Given the description of an element on the screen output the (x, y) to click on. 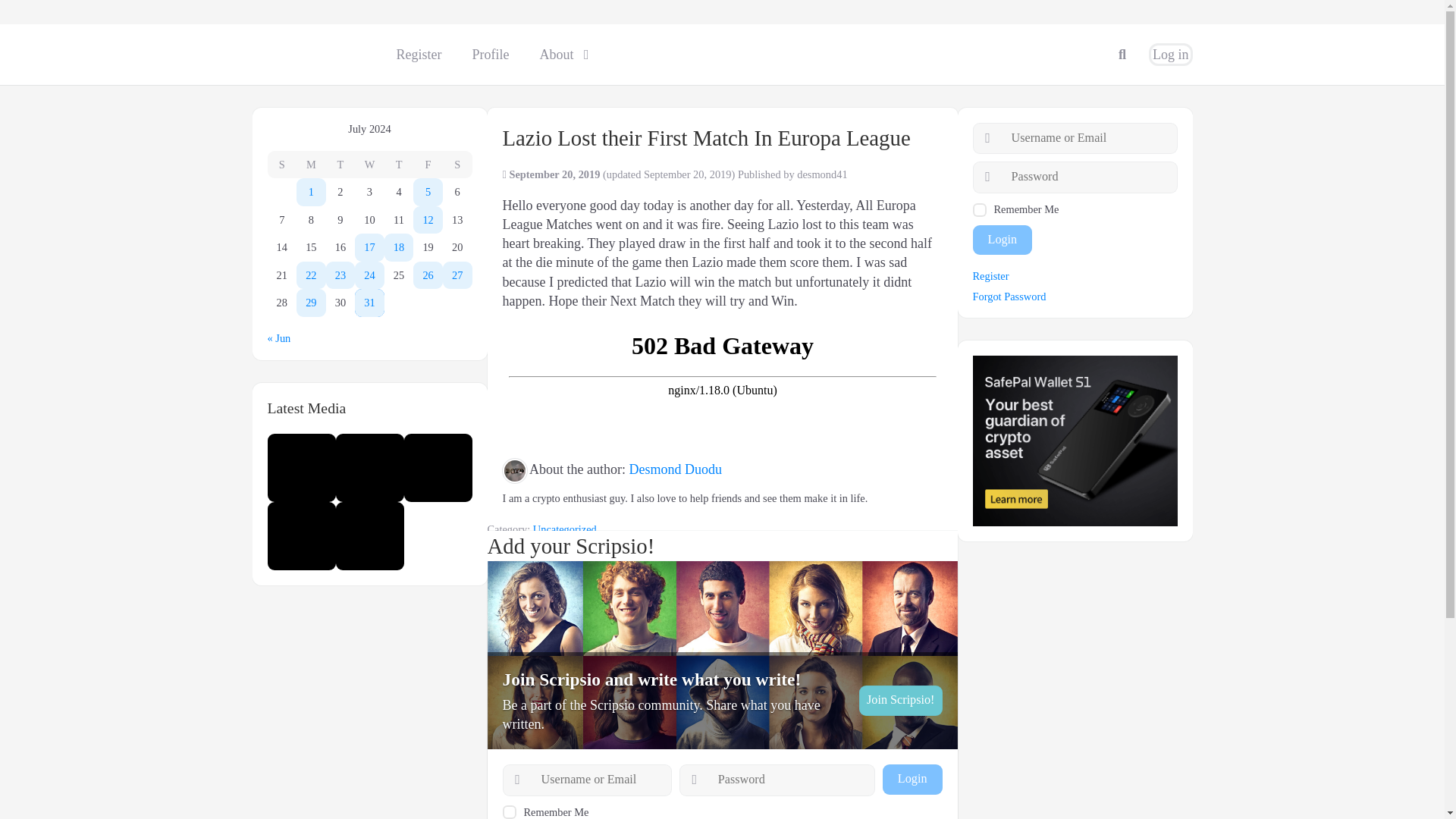
Wednesday (369, 164)
22 (311, 275)
Friday (427, 164)
24 (369, 275)
23 (340, 275)
Register (418, 54)
Tuesday (340, 164)
17 (369, 247)
12 (427, 220)
18 (398, 247)
26 (427, 275)
31 (369, 302)
About (560, 54)
Monday (311, 164)
Log in (1171, 54)
